Given the description of an element on the screen output the (x, y) to click on. 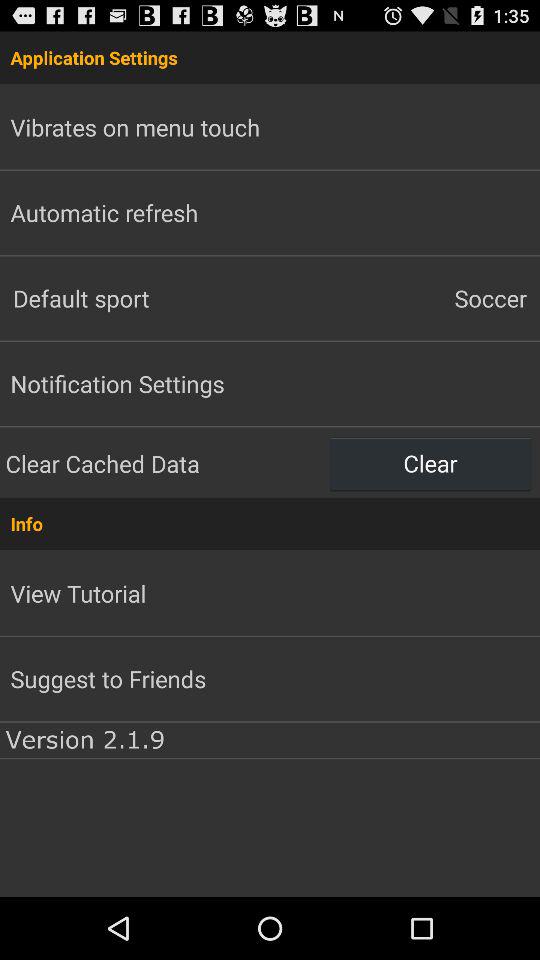
click vibrates on menu app (135, 127)
